Given the description of an element on the screen output the (x, y) to click on. 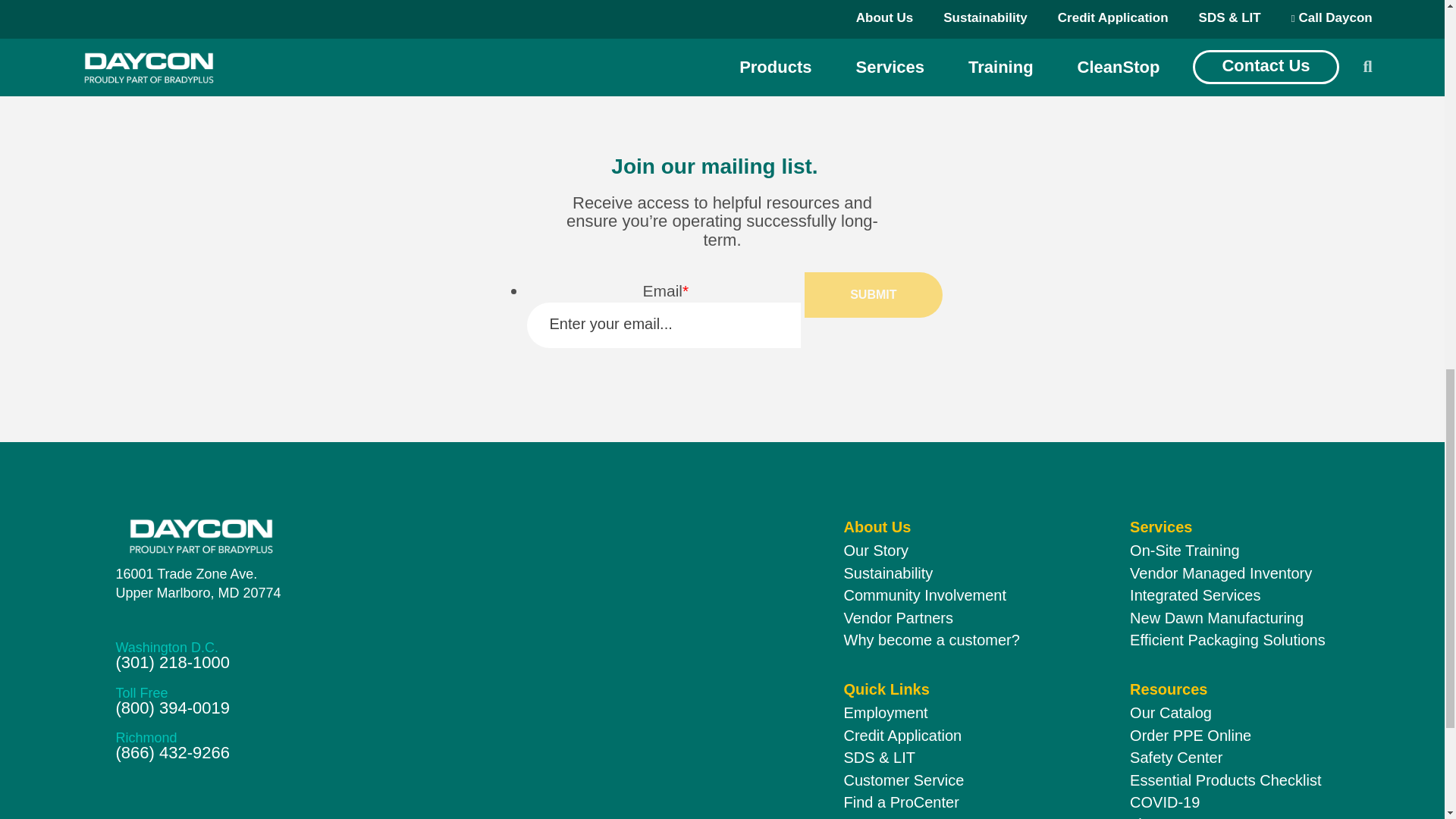
Vendor Partners (898, 617)
Sustainability (888, 573)
Submit (873, 294)
Submit (873, 294)
The homepage for Daycon (357, 535)
Community Involvement (924, 595)
Why become a customer? (931, 639)
Our Story (198, 583)
